Given the description of an element on the screen output the (x, y) to click on. 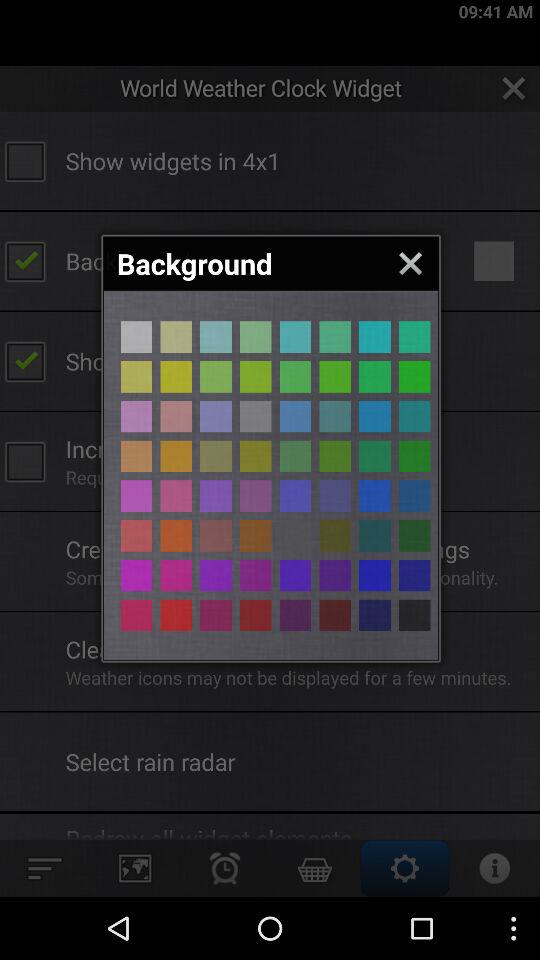
color selection (176, 376)
